Given the description of an element on the screen output the (x, y) to click on. 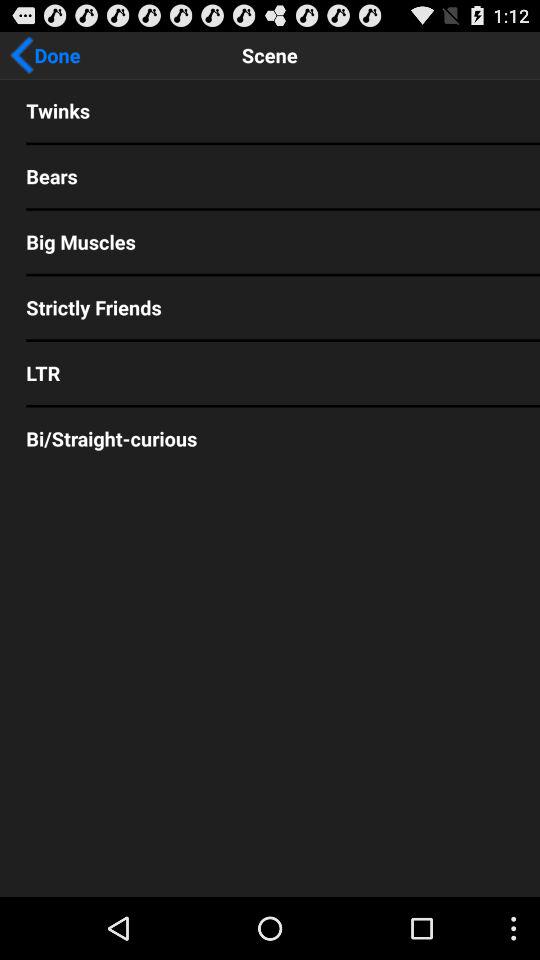
launch the done at the top left corner (45, 55)
